Given the description of an element on the screen output the (x, y) to click on. 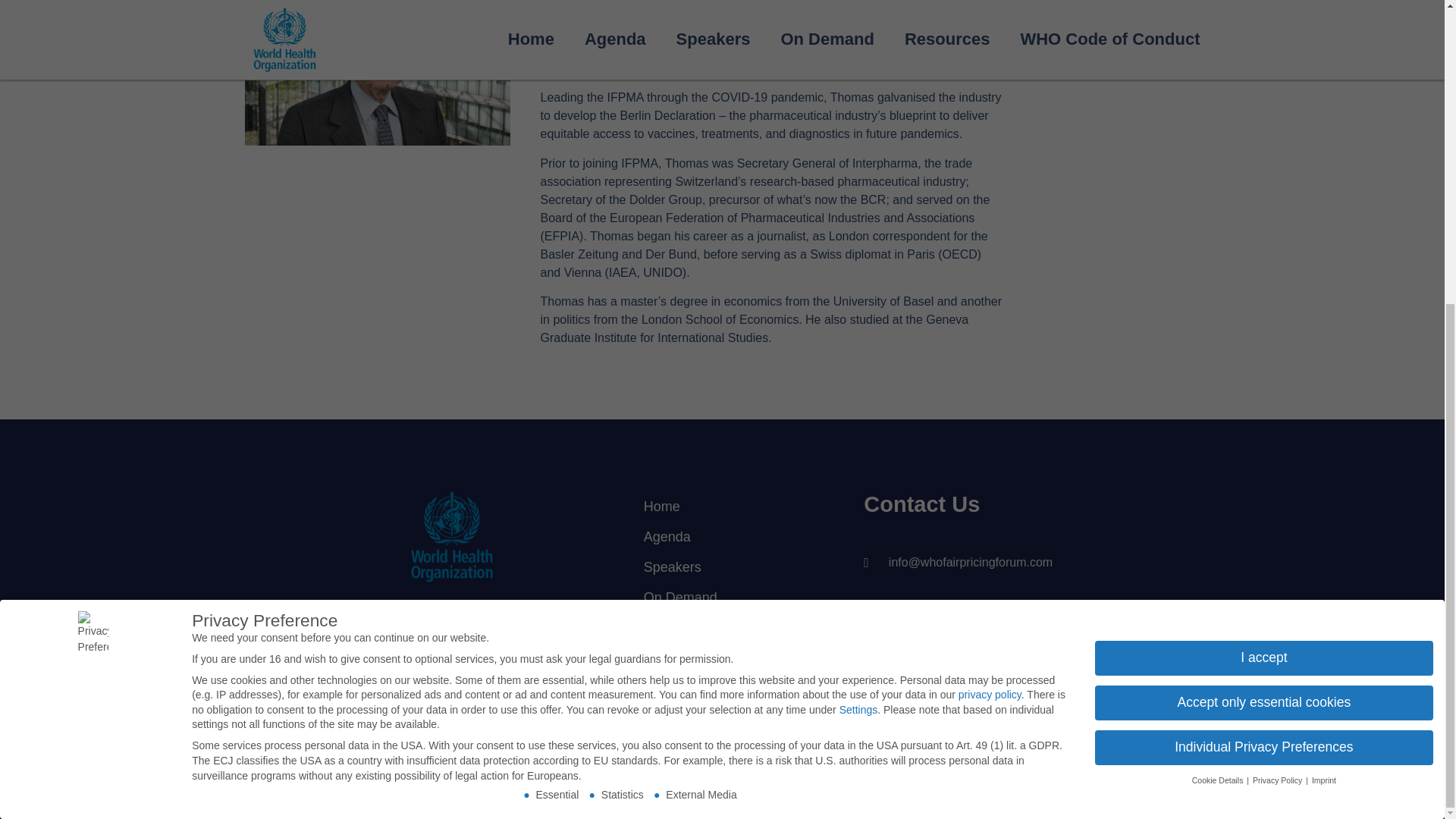
Home (713, 506)
Resources (713, 627)
WHO Code of Conduct (713, 666)
On Demand (713, 597)
Open Cookie Preferences (32, 323)
Agenda (713, 536)
Speakers (713, 567)
